Given the description of an element on the screen output the (x, y) to click on. 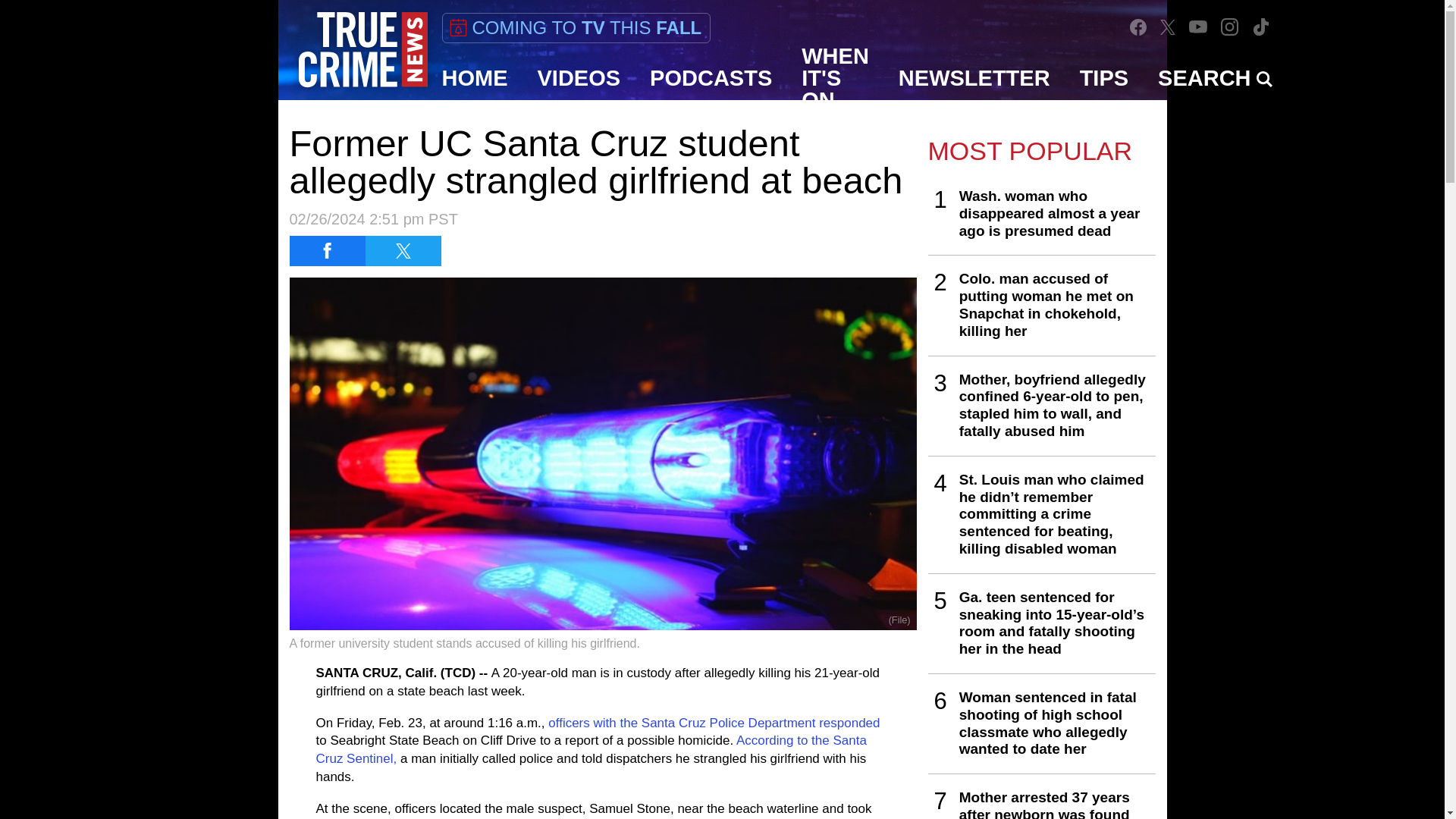
True Crime News (363, 49)
TikTok (1260, 27)
Facebook (1137, 27)
Twitter (1167, 26)
TikTok (1260, 26)
True Crime News (363, 49)
NEWSLETTER (974, 77)
SEARCH (1214, 77)
TIPS (1103, 77)
YouTube (1198, 26)
